Given the description of an element on the screen output the (x, y) to click on. 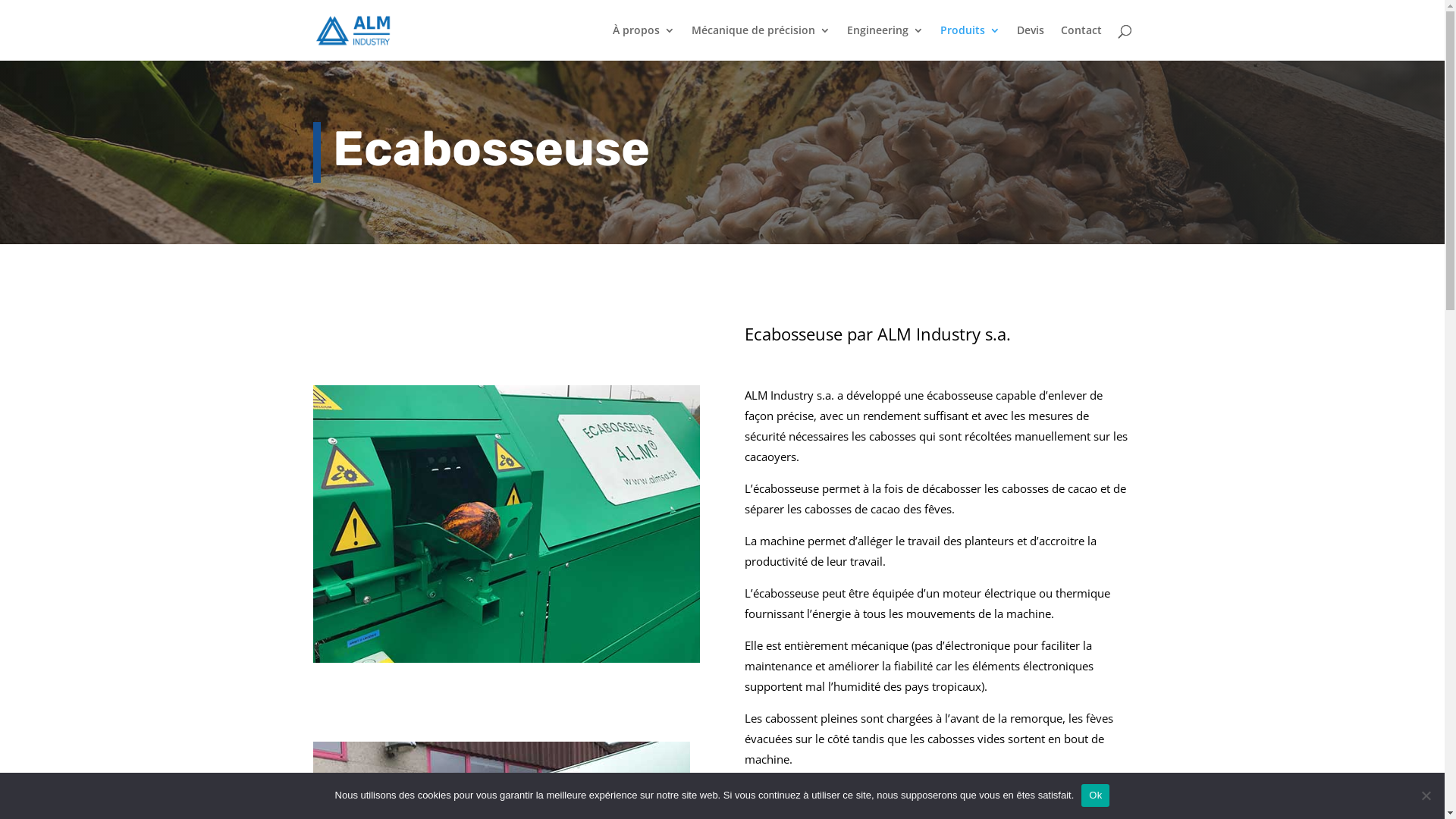
Ok Element type: text (1095, 795)
Engineering Element type: text (884, 42)
Produits Element type: text (970, 42)
Contact Element type: text (1080, 42)
No Element type: hover (1425, 795)
Devis Element type: text (1029, 42)
